Given the description of an element on the screen output the (x, y) to click on. 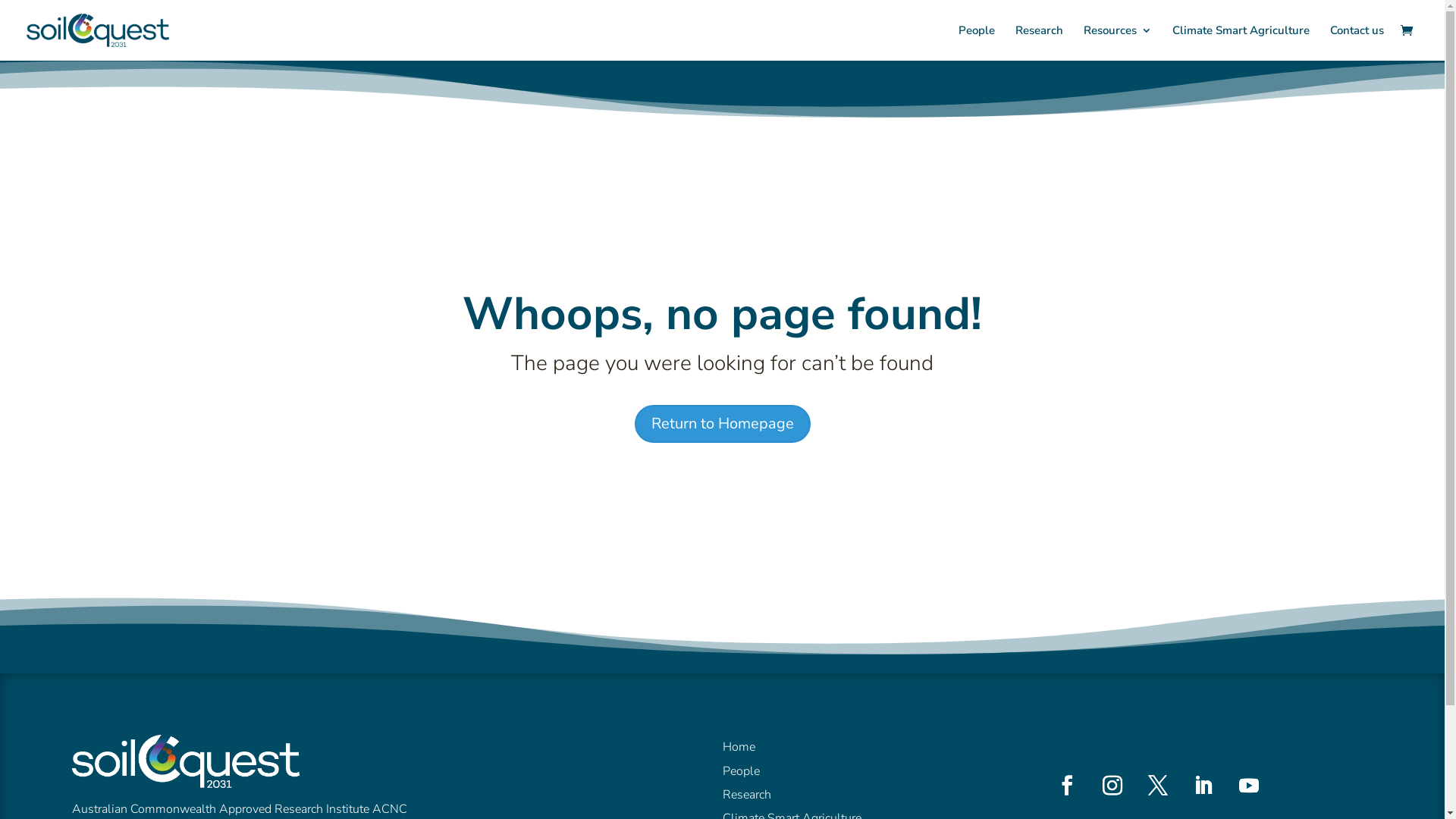
Follow on Facebook Element type: hover (1066, 785)
Follow on LinkedIn Element type: hover (1203, 785)
People Element type: text (976, 42)
Research Element type: text (1039, 42)
Contact us Element type: text (1356, 42)
Resources Element type: text (1117, 42)
Home Element type: text (737, 746)
Return to Homepage Element type: text (721, 423)
Research Element type: text (745, 794)
Follow on X Element type: hover (1157, 785)
Climate Smart Agriculture Element type: text (1240, 42)
People Element type: text (740, 770)
SoilCQuest Logo white and colour Element type: hover (185, 760)
Follow on Instagram Element type: hover (1112, 785)
Follow on Youtube Element type: hover (1248, 785)
